Given the description of an element on the screen output the (x, y) to click on. 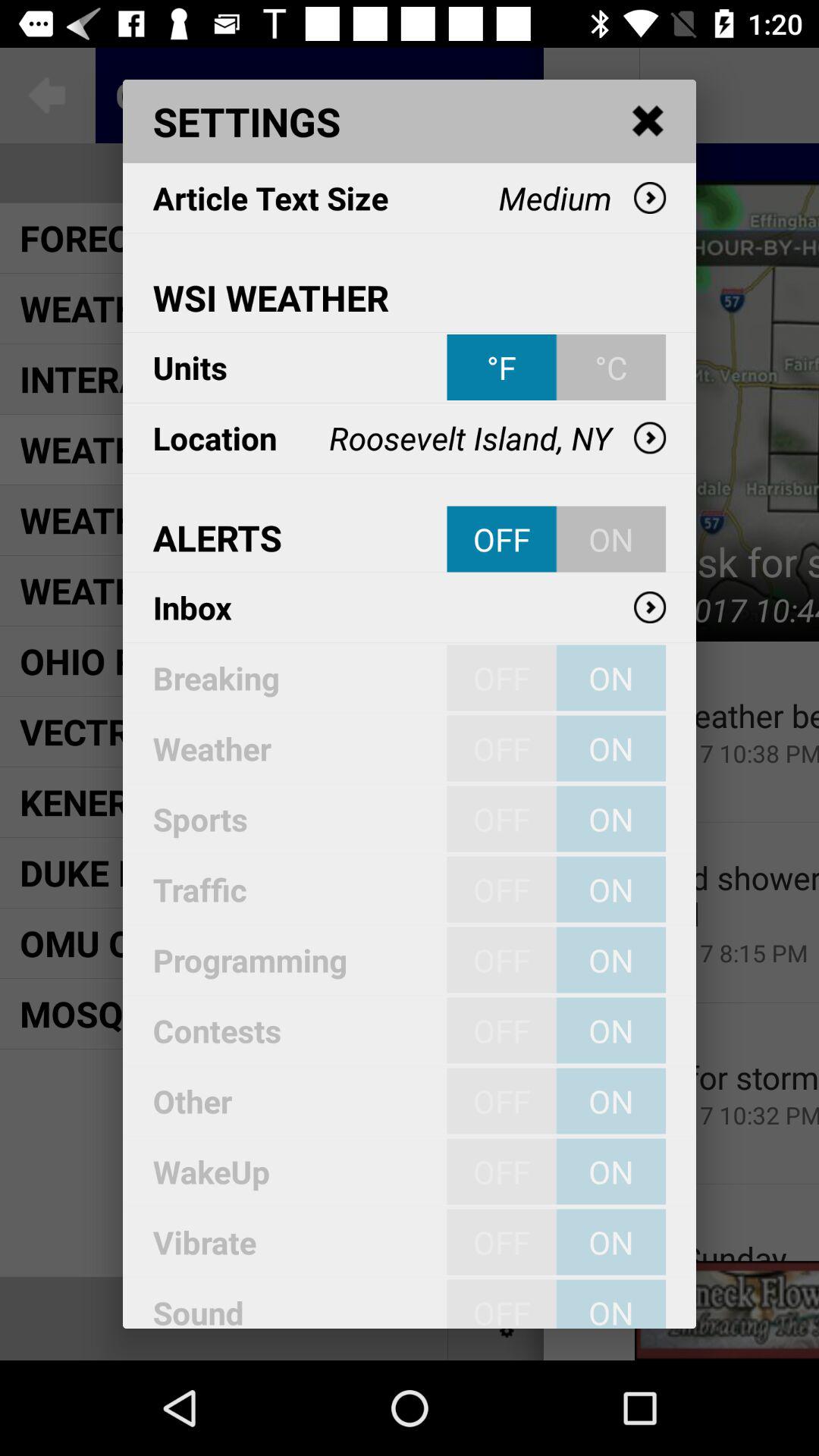
close settings (648, 121)
